Given the description of an element on the screen output the (x, y) to click on. 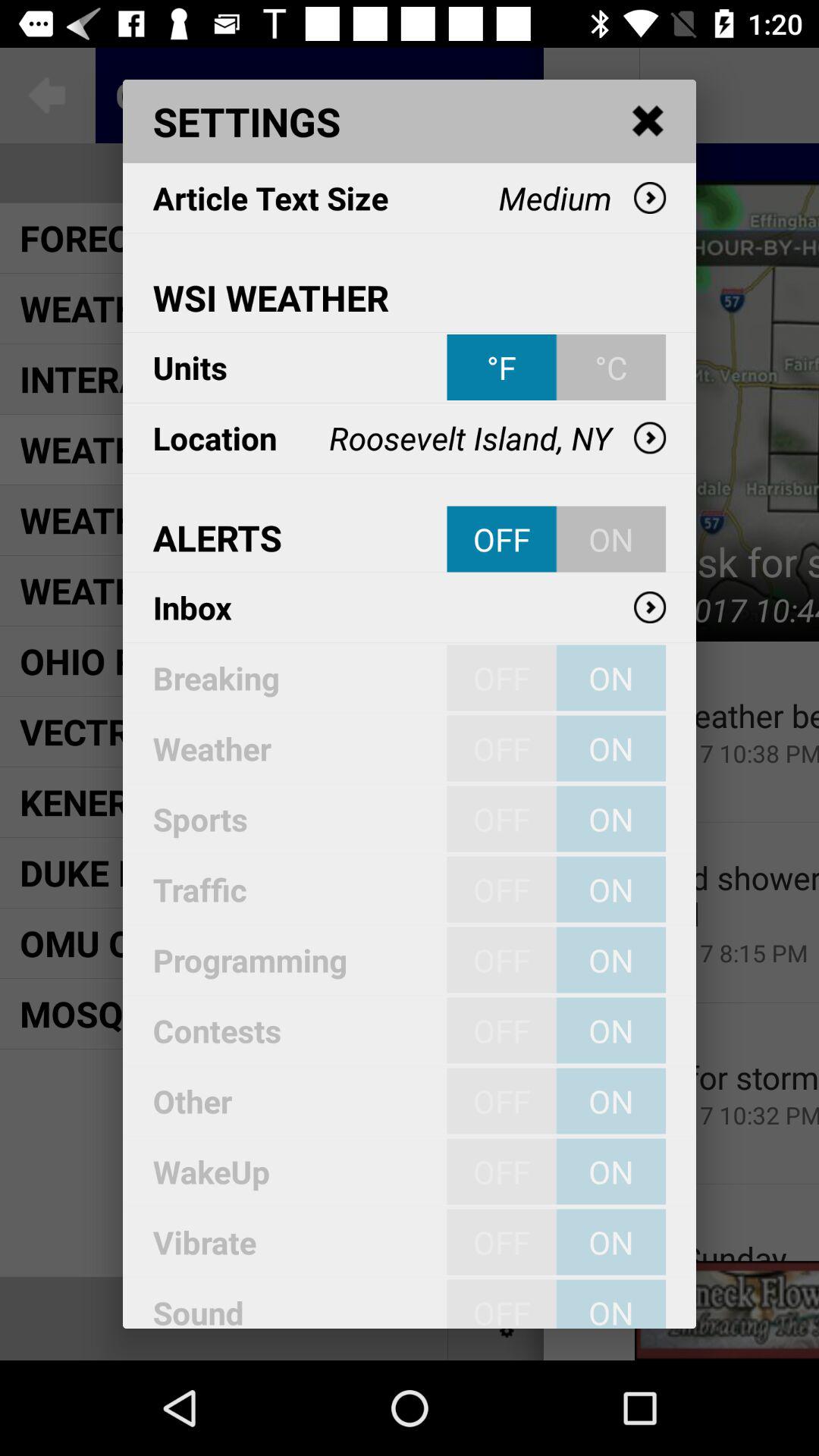
close settings (648, 121)
